Given the description of an element on the screen output the (x, y) to click on. 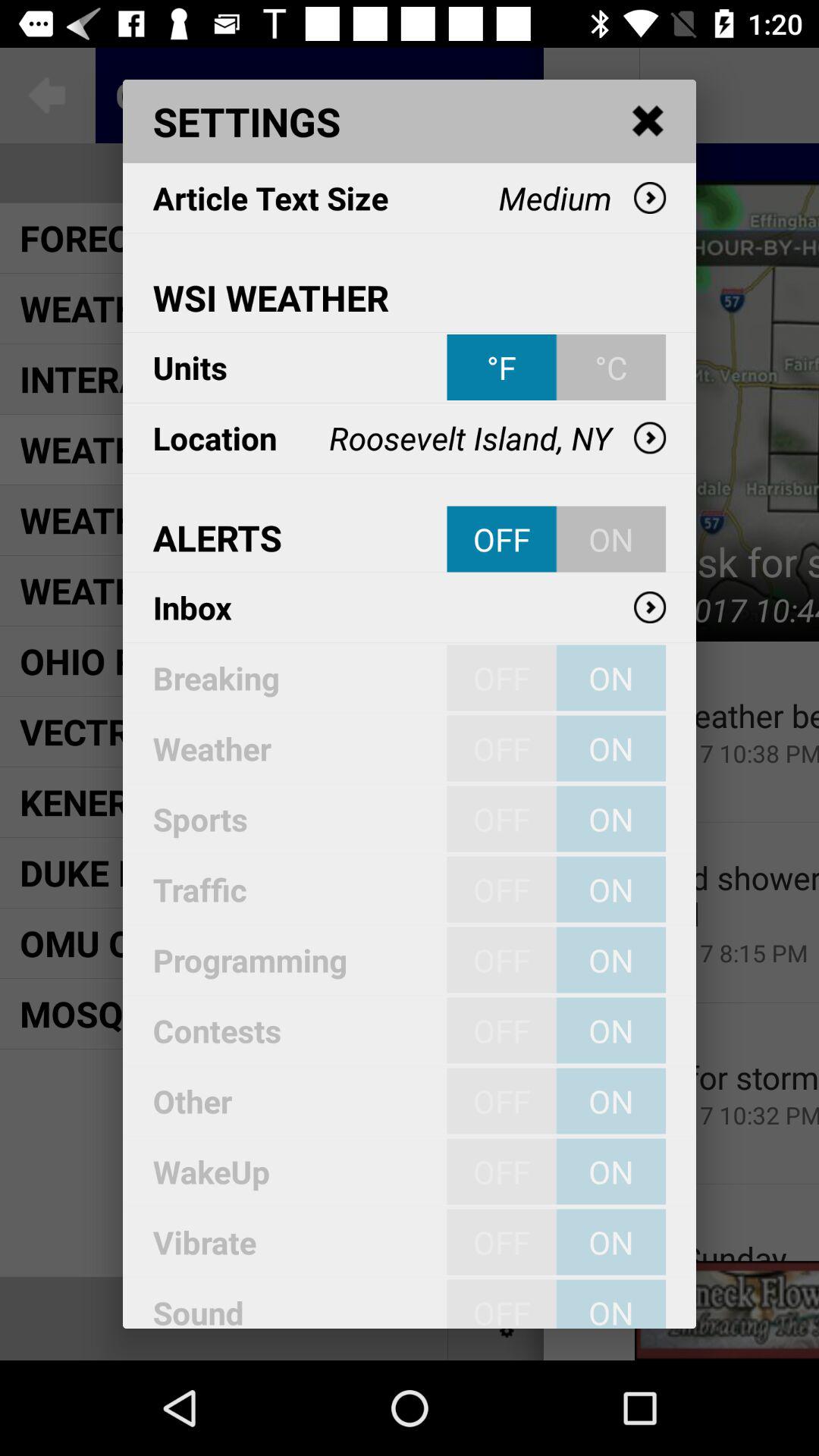
close settings (648, 121)
